Given the description of an element on the screen output the (x, y) to click on. 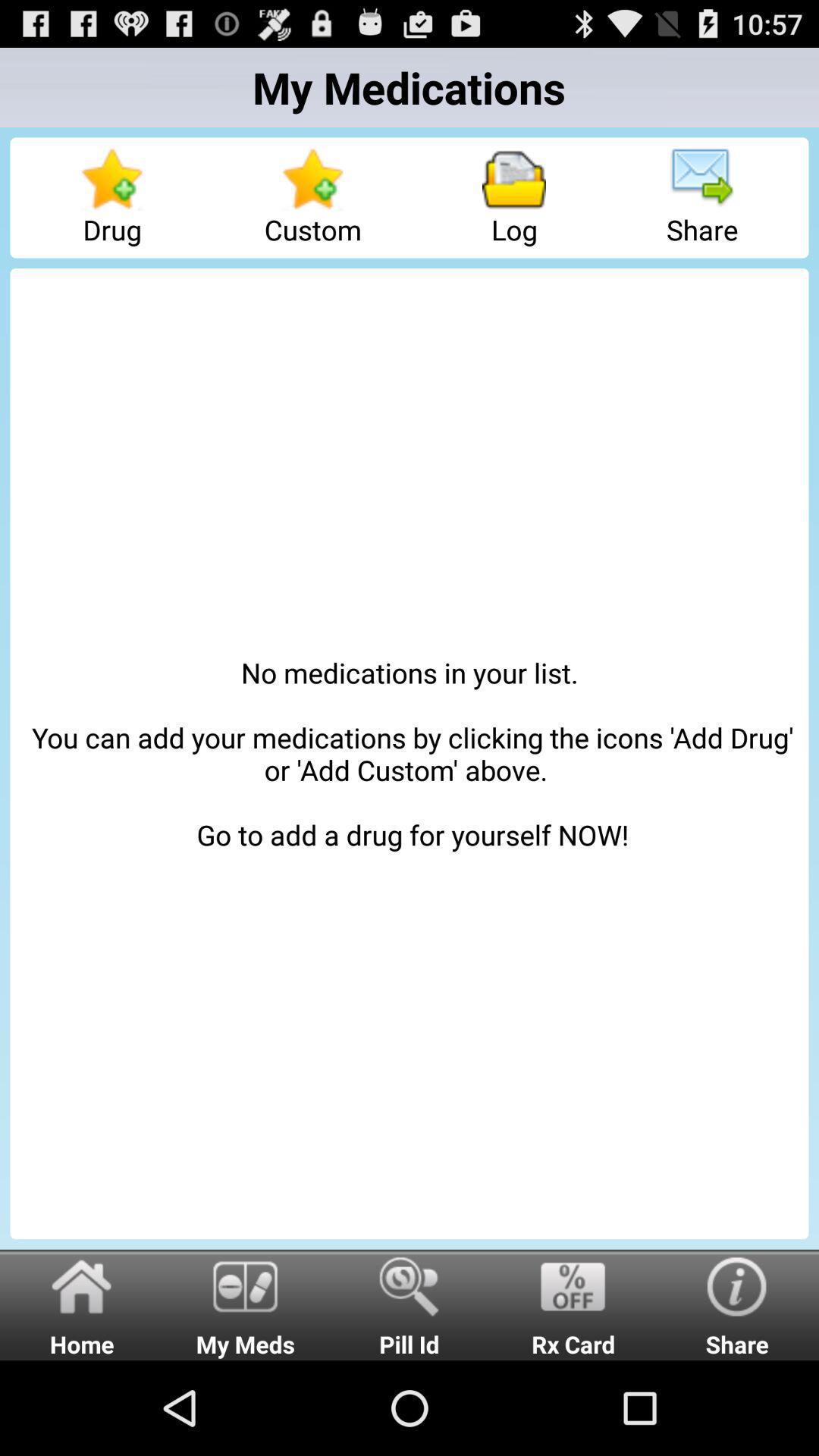
open the pill id icon (409, 1304)
